Given the description of an element on the screen output the (x, y) to click on. 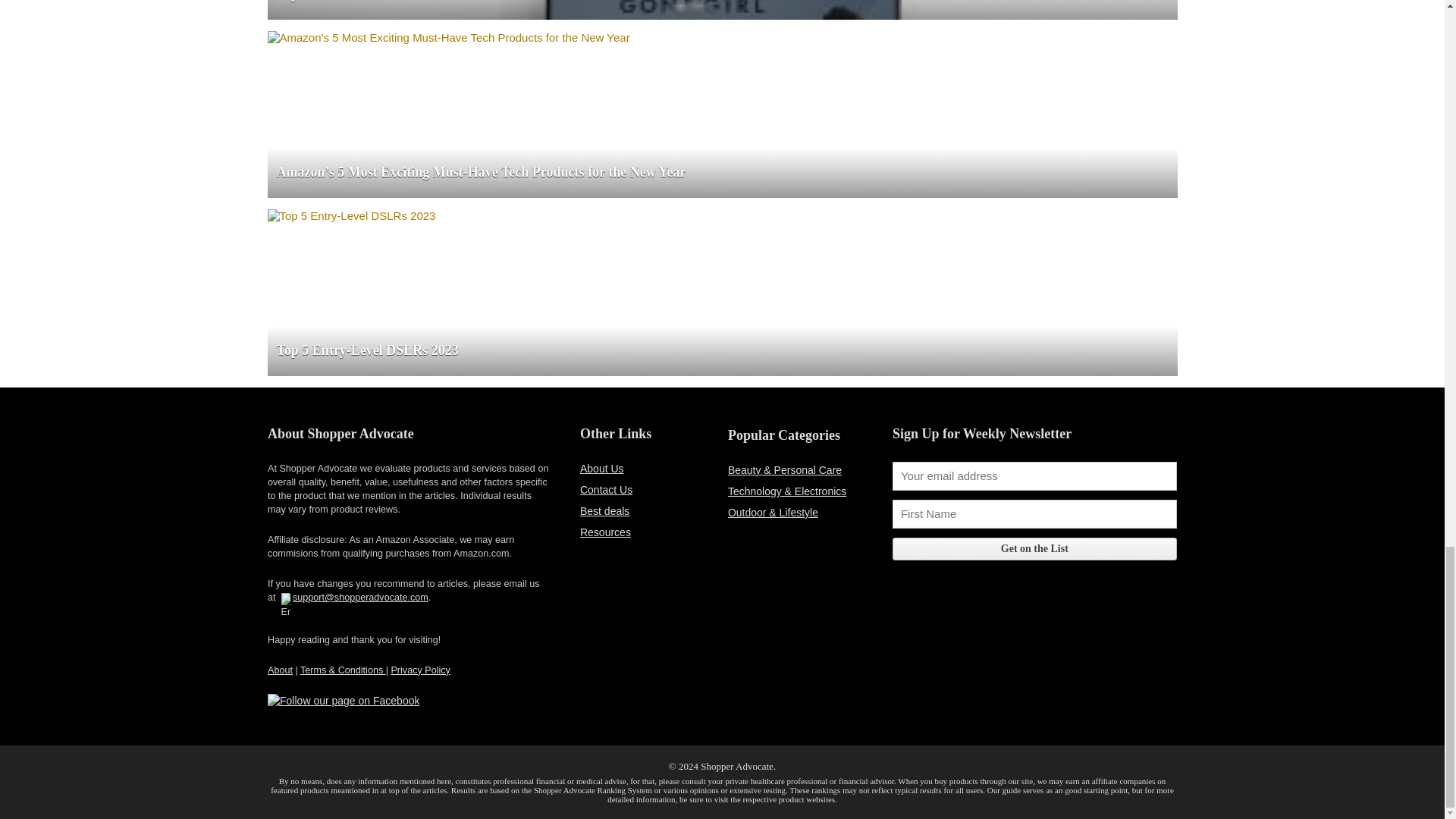
Contact Us (605, 490)
Best deals (603, 510)
Get on the List (1034, 548)
Get on the List (1034, 548)
About (279, 670)
Resources (604, 532)
Top 5 Entry-Level DSLRs 2023 (350, 215)
Privacy Policy (419, 670)
About Us (601, 468)
